Given the description of an element on the screen output the (x, y) to click on. 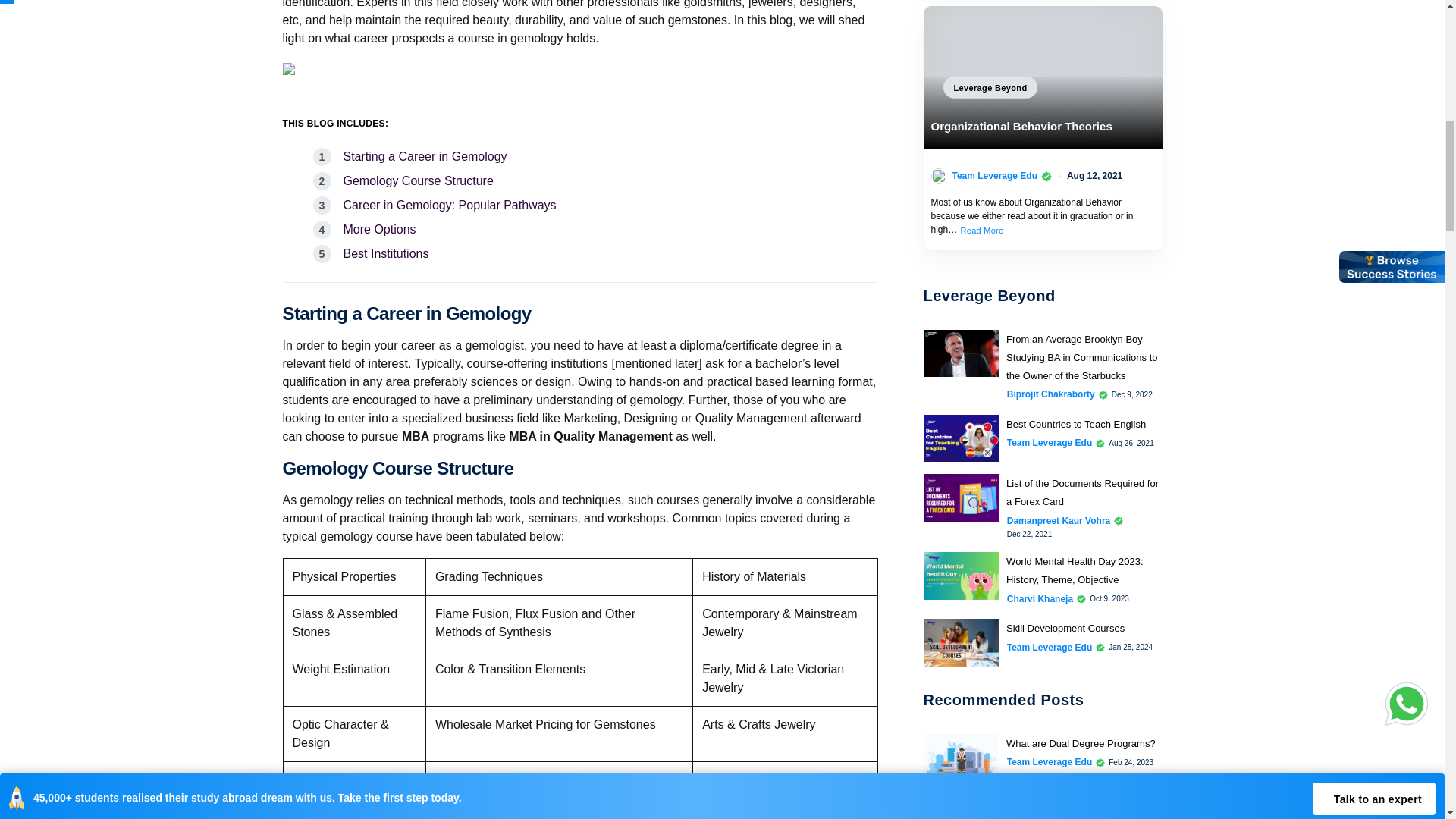
View all posts by Team Leverage Edu (995, 175)
View all posts by Charvi Khaneja (1040, 598)
View all posts by Team Leverage Edu (1050, 442)
View all posts by Damanpreet Kaur Vohra (1058, 520)
View all posts by Biprojit Chakraborty (1050, 394)
View all posts by Team Leverage Edu (1050, 816)
View all posts by Team Leverage Edu (1050, 762)
View all posts by Team Leverage Edu (1050, 646)
